Given the description of an element on the screen output the (x, y) to click on. 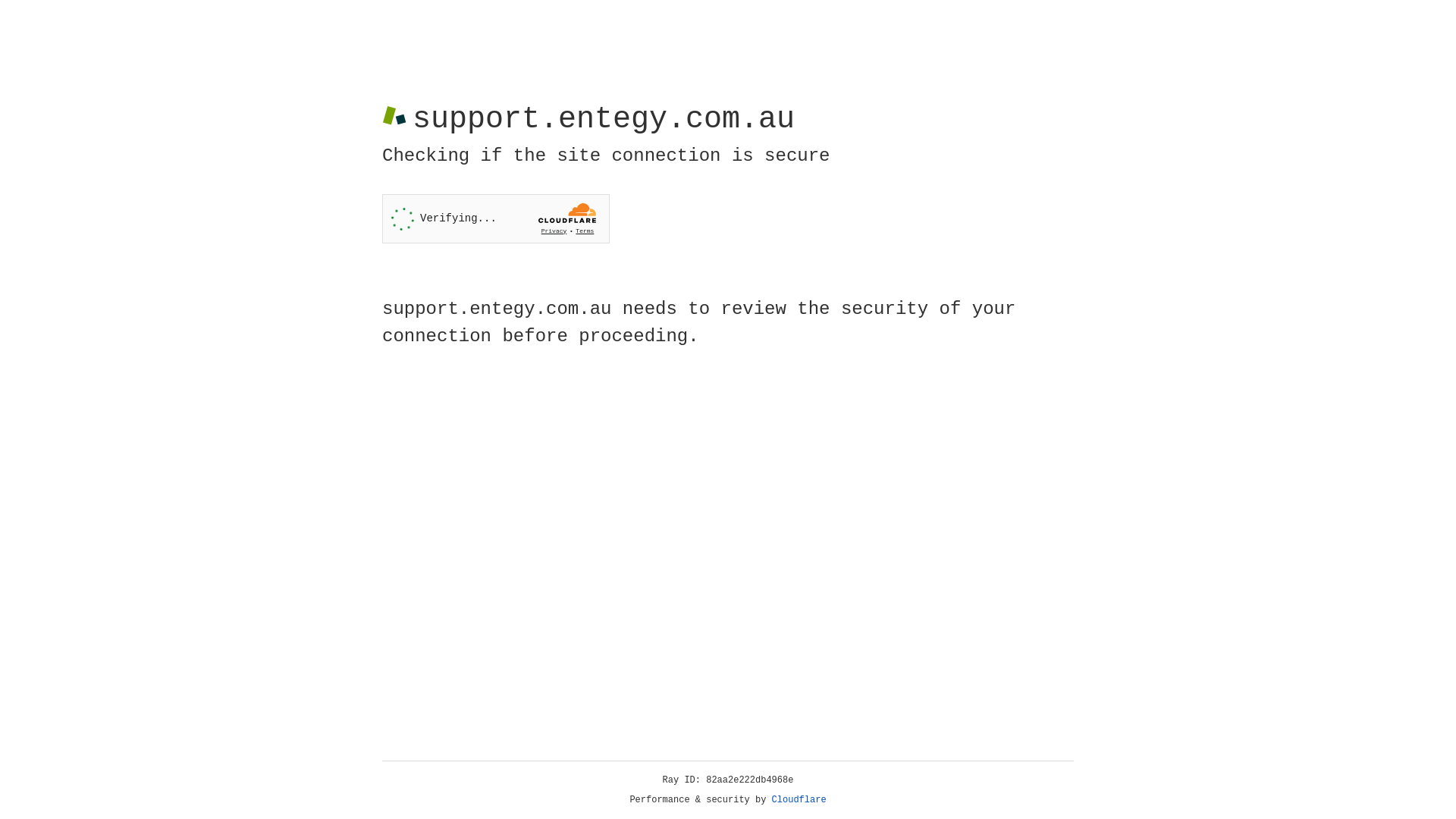
Cloudflare Element type: text (798, 799)
Widget containing a Cloudflare security challenge Element type: hover (495, 218)
